Given the description of an element on the screen output the (x, y) to click on. 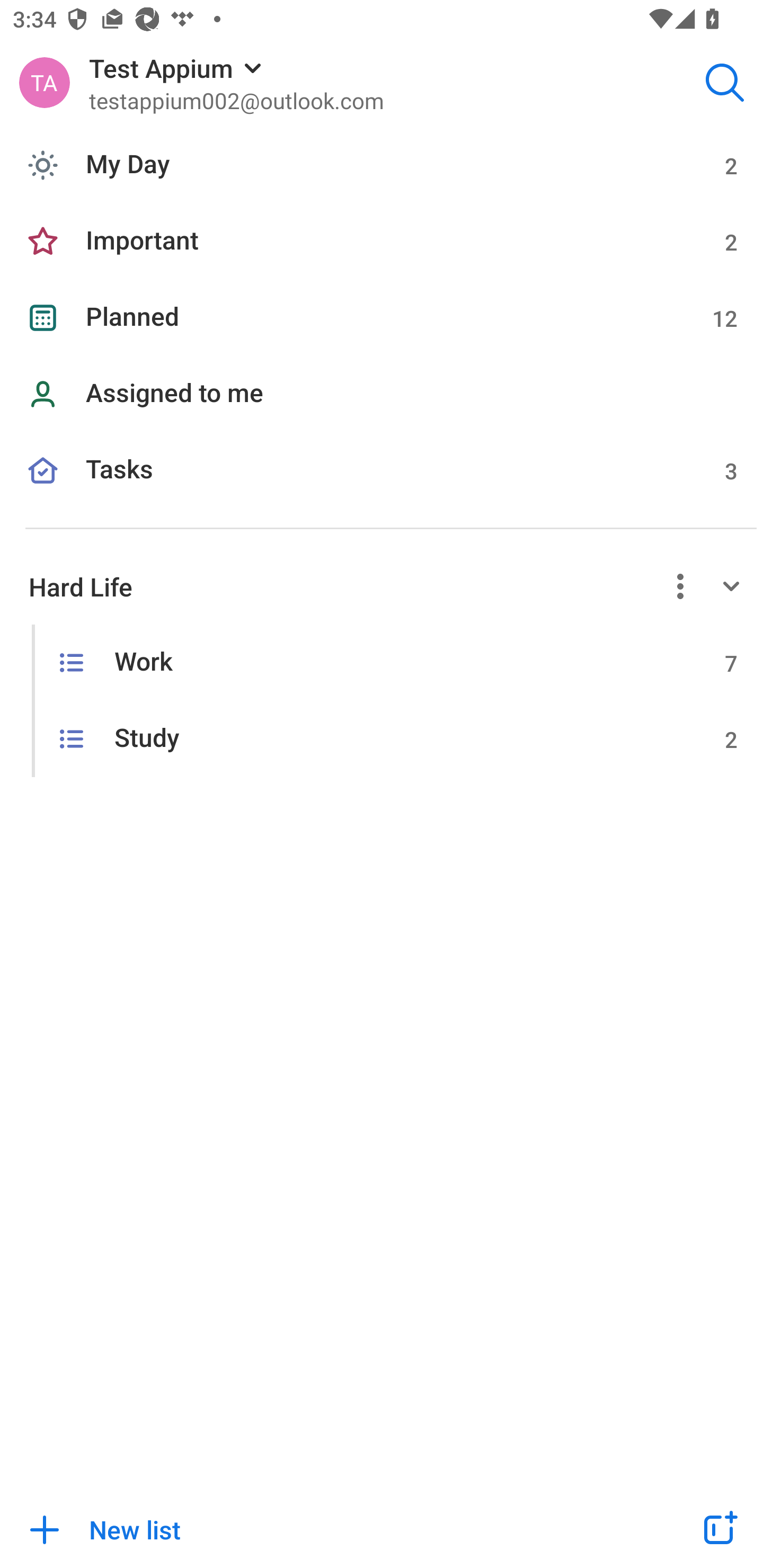
Work, 7 tasks Work 7 (381, 662)
